Given the description of an element on the screen output the (x, y) to click on. 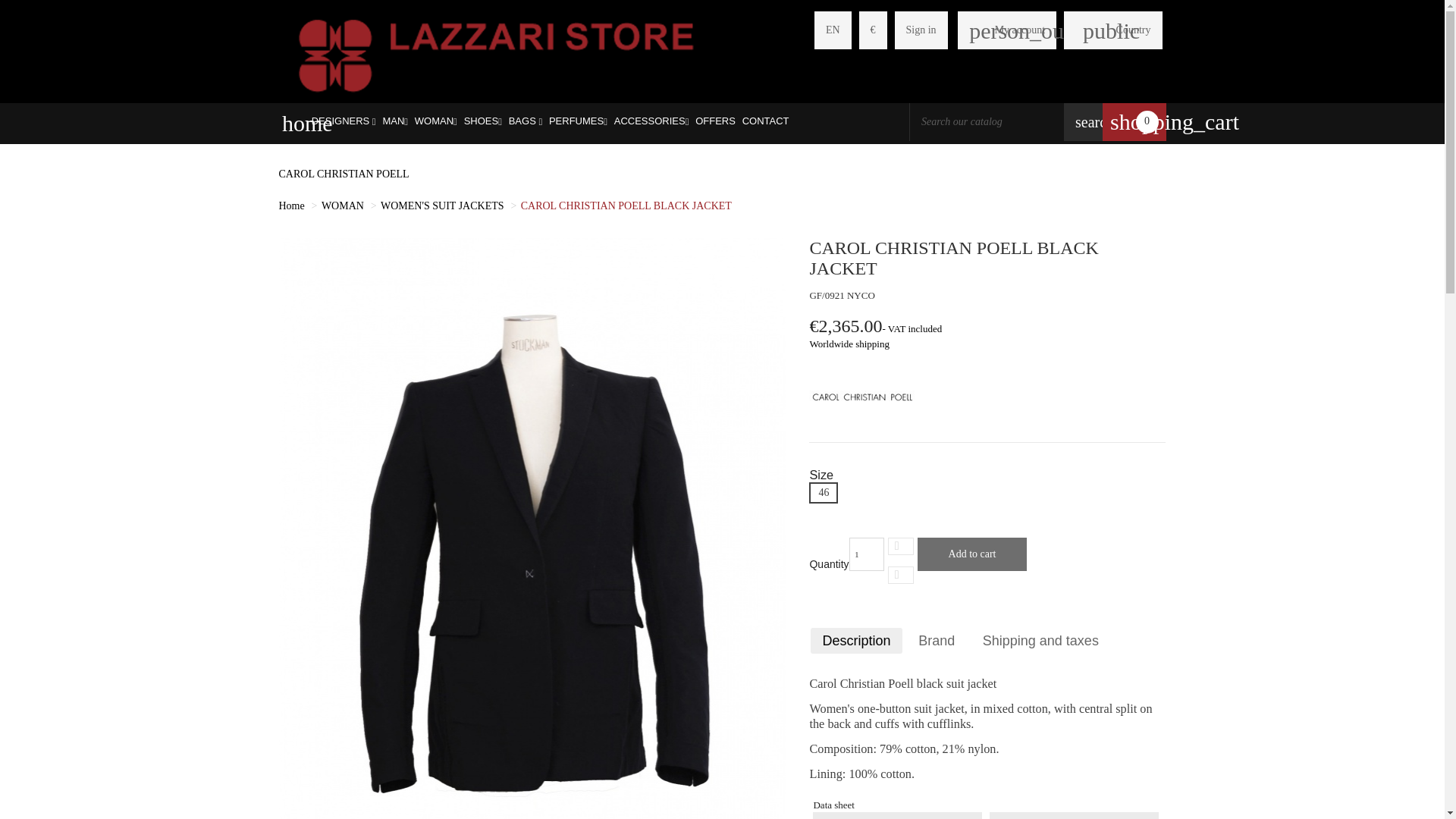
public (1094, 29)
Sign in (921, 30)
Lazzari Store (496, 53)
Log in to your customer account (921, 30)
1 (865, 553)
Choose here the destination country (1133, 30)
Log in to your customer account (1007, 30)
